Given the description of an element on the screen output the (x, y) to click on. 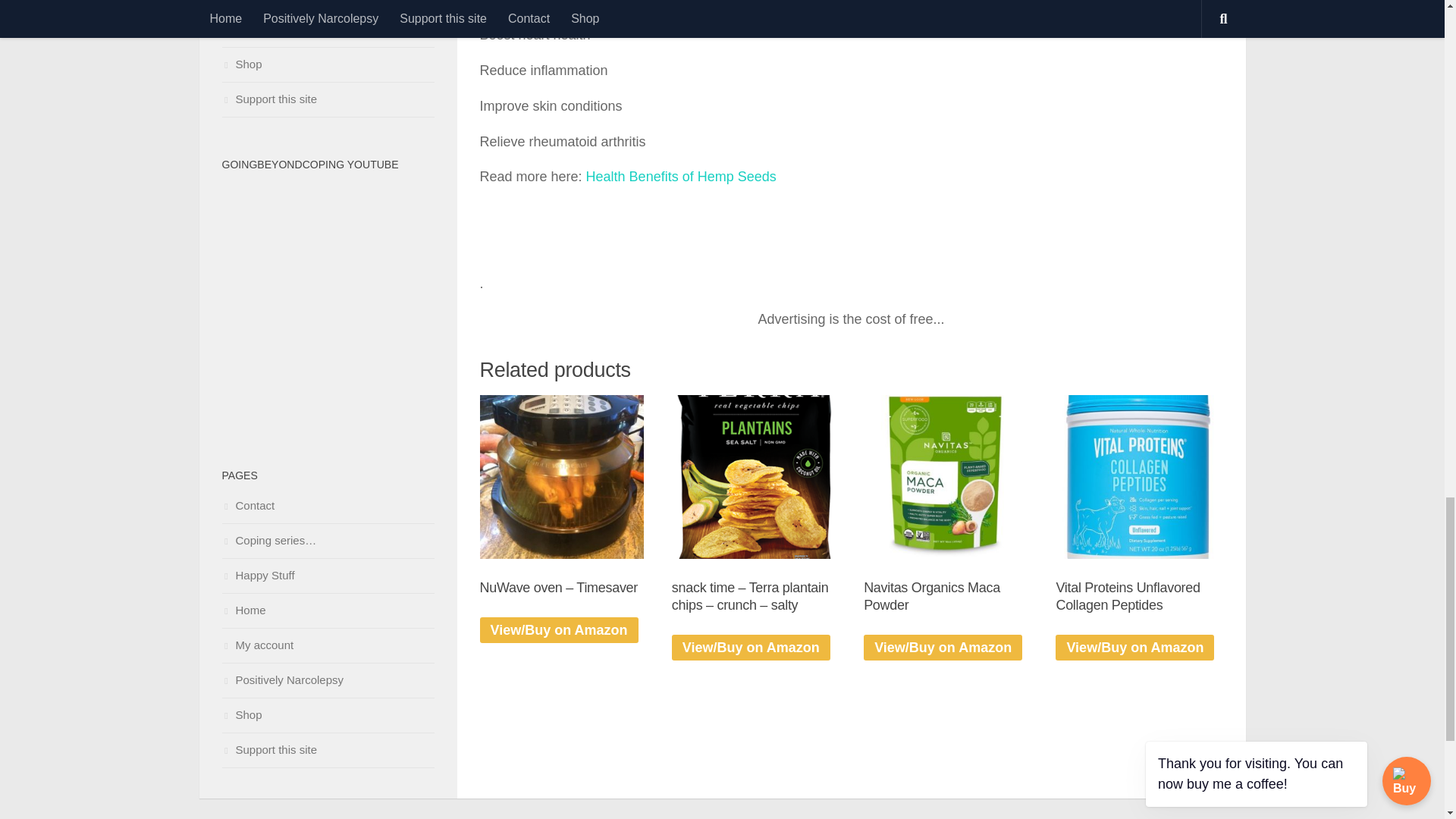
Health Benefits of Hemp Seeds (681, 176)
